Given the description of an element on the screen output the (x, y) to click on. 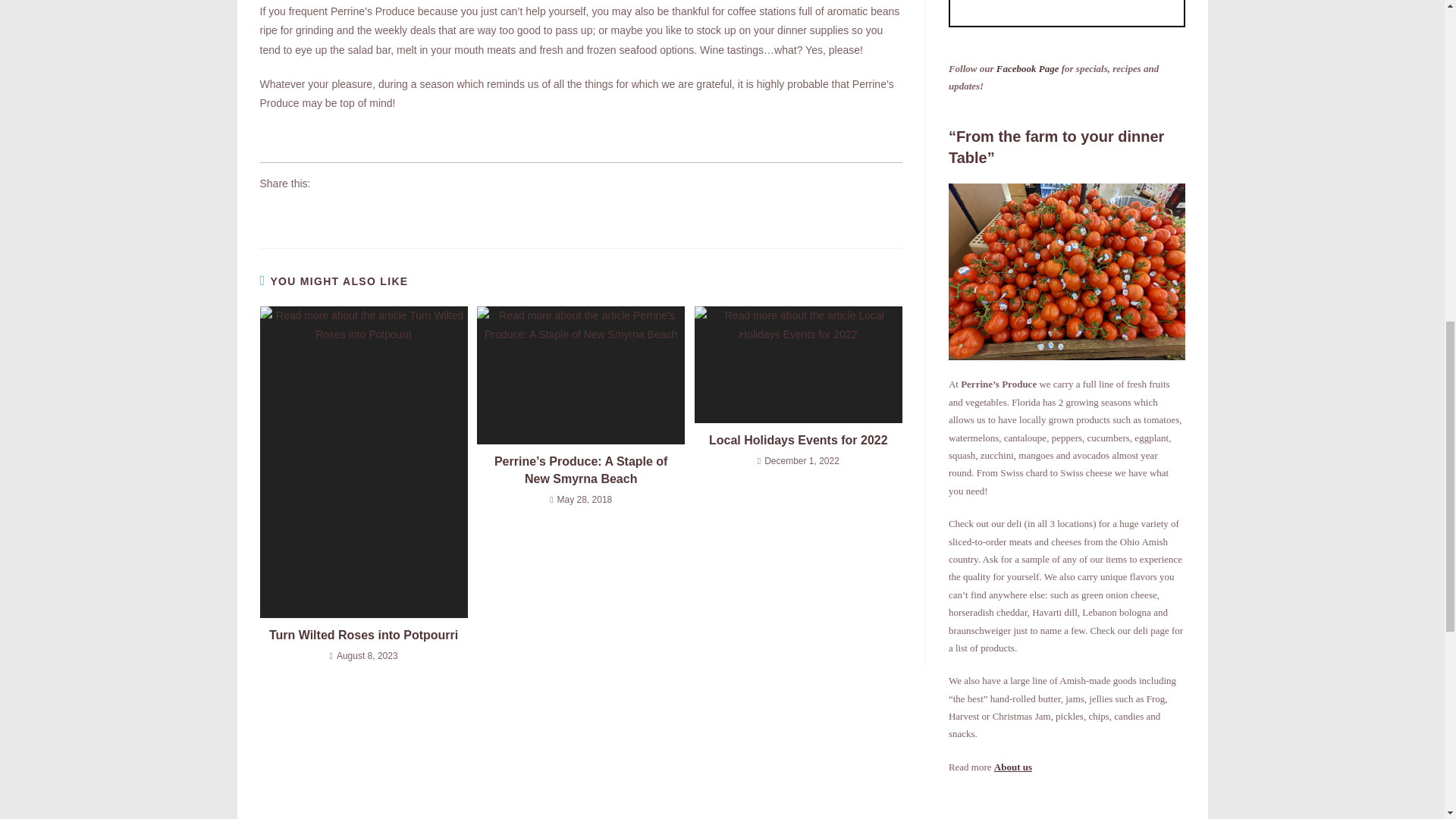
Click to share on Pinterest (386, 212)
Click to share on Twitter (300, 212)
Click to share by Email (415, 212)
Click to share on Facebook (271, 212)
Click to share on Google (328, 212)
Click to share on LinkedIn (357, 212)
